Given the description of an element on the screen output the (x, y) to click on. 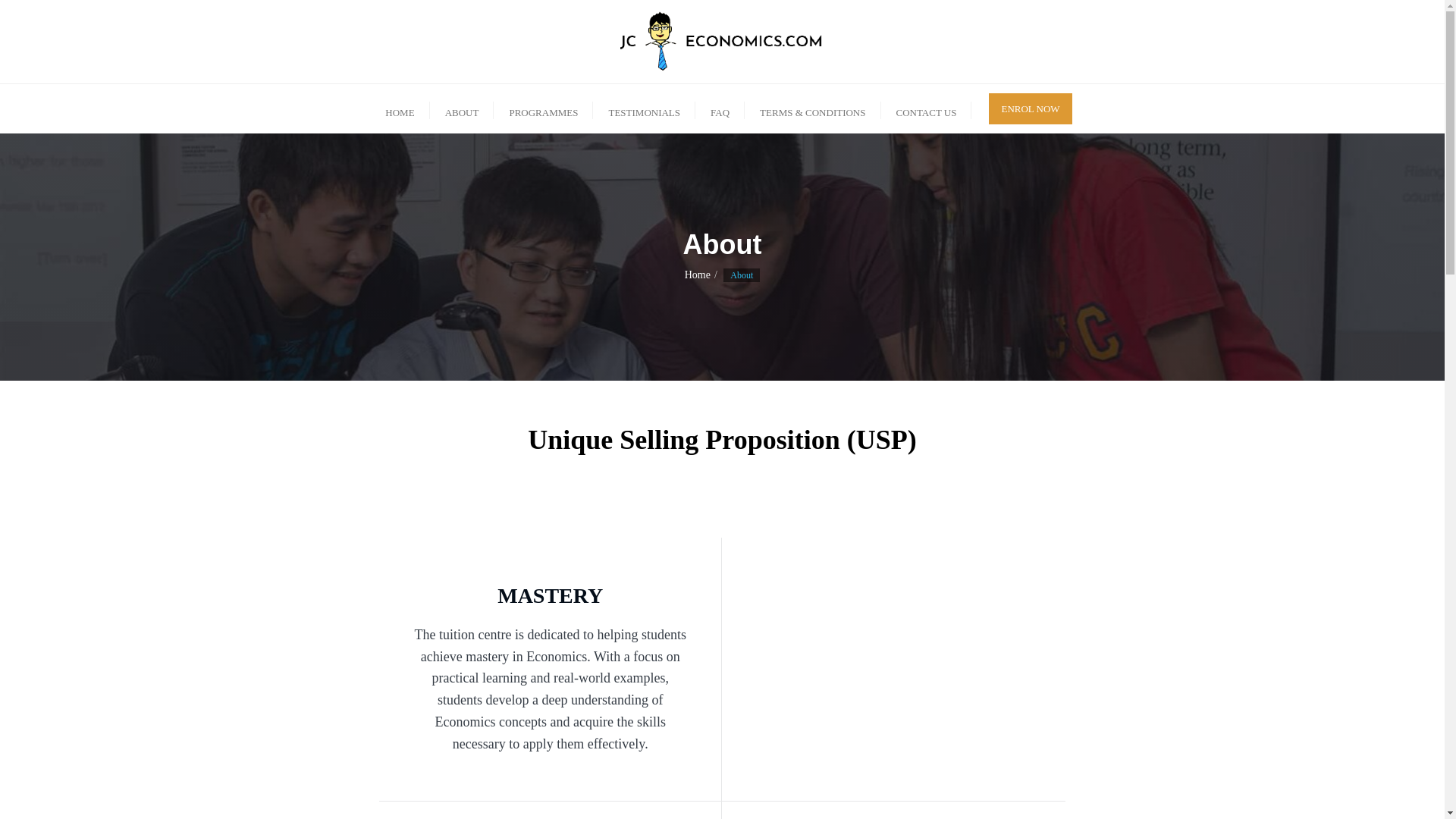
Home (697, 274)
ABOUT (462, 108)
CONTACT US (926, 108)
PROGRAMMES (542, 108)
HOME (399, 108)
ENROL NOW (1030, 108)
FAQ (719, 108)
TESTIMONIALS (643, 108)
